Given the description of an element on the screen output the (x, y) to click on. 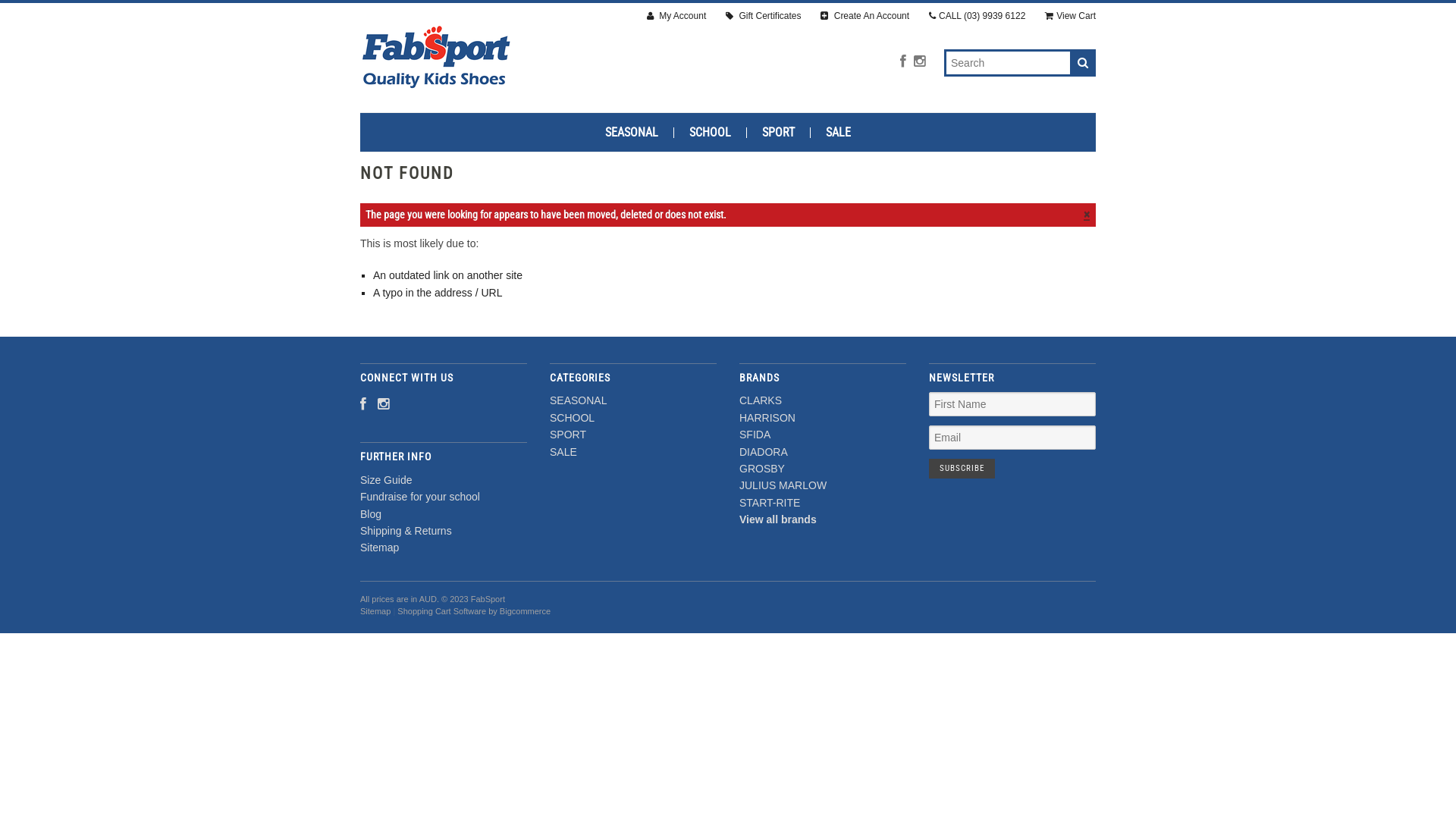
Facebook Element type: hover (903, 61)
SPORT Element type: text (567, 434)
START-RITE Element type: text (769, 502)
SEASONAL Element type: text (577, 400)
SEASONAL Element type: text (631, 132)
SPORT Element type: text (778, 132)
Shopping Cart Software Element type: text (441, 610)
SCHOOL Element type: text (710, 132)
HARRISON Element type: text (767, 417)
Fundraise for your school Element type: text (420, 496)
My Account Element type: text (676, 16)
Instagram Element type: hover (919, 61)
SFIDA Element type: text (754, 434)
SALE Element type: text (838, 132)
Instagram Element type: hover (383, 404)
SALE Element type: text (563, 451)
SCHOOL Element type: text (571, 417)
Gift Certificates Element type: text (762, 16)
Blog Element type: text (370, 514)
View Cart Element type: text (1069, 16)
CLARKS Element type: text (760, 400)
JULIUS MARLOW Element type: text (782, 485)
Size Guide Element type: text (385, 479)
Facebook Element type: hover (363, 404)
CALL (03) 9939 6122 Element type: text (976, 16)
Create An Account Element type: text (864, 16)
View all brands Element type: text (777, 519)
Shipping & Returns Element type: text (405, 530)
DIADORA Element type: text (763, 451)
Sitemap Element type: text (375, 610)
GROSBY Element type: text (761, 468)
Subscribe Element type: text (961, 468)
Sitemap Element type: text (379, 547)
